Given the description of an element on the screen output the (x, y) to click on. 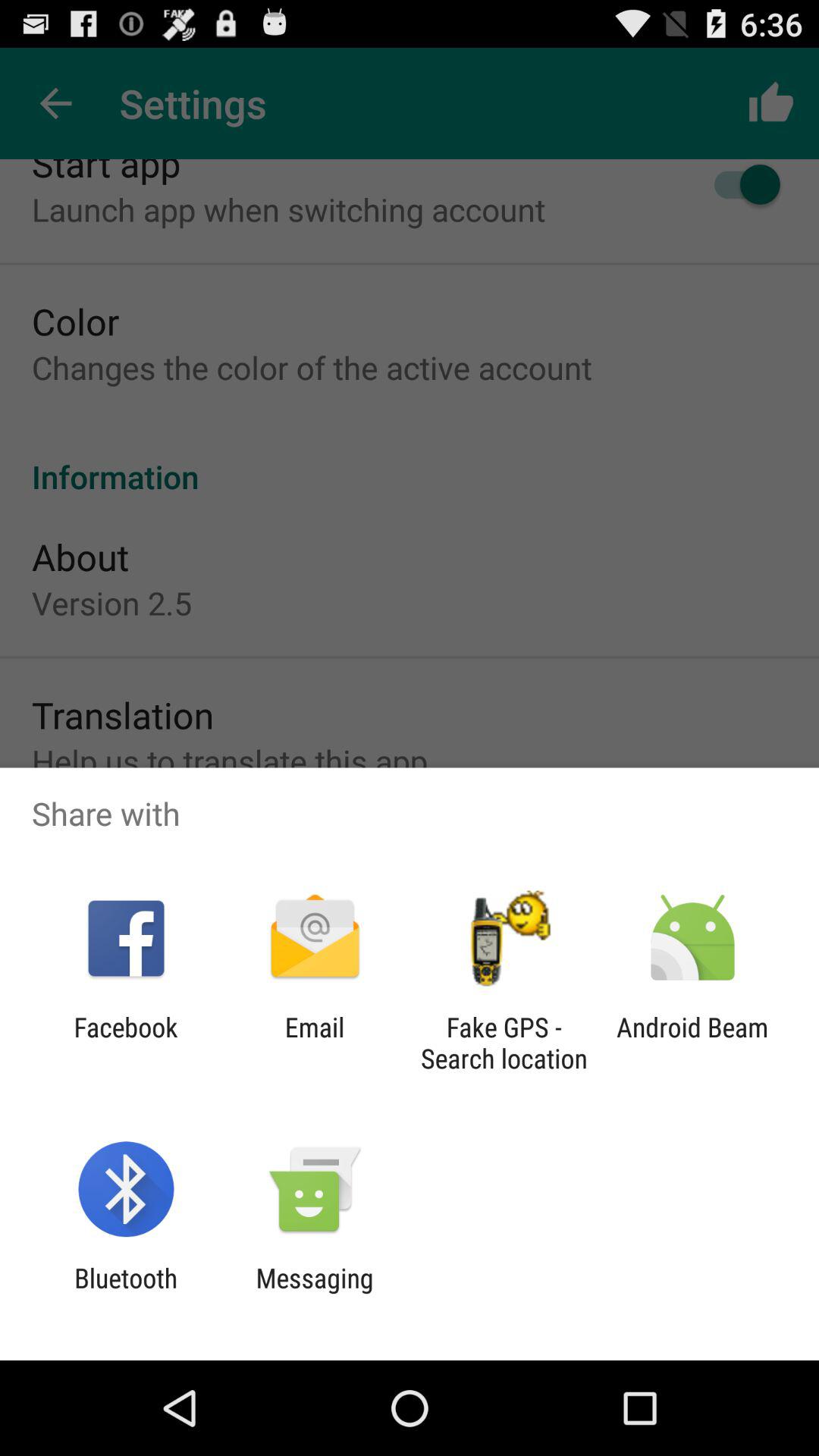
turn off the email app (314, 1042)
